Given the description of an element on the screen output the (x, y) to click on. 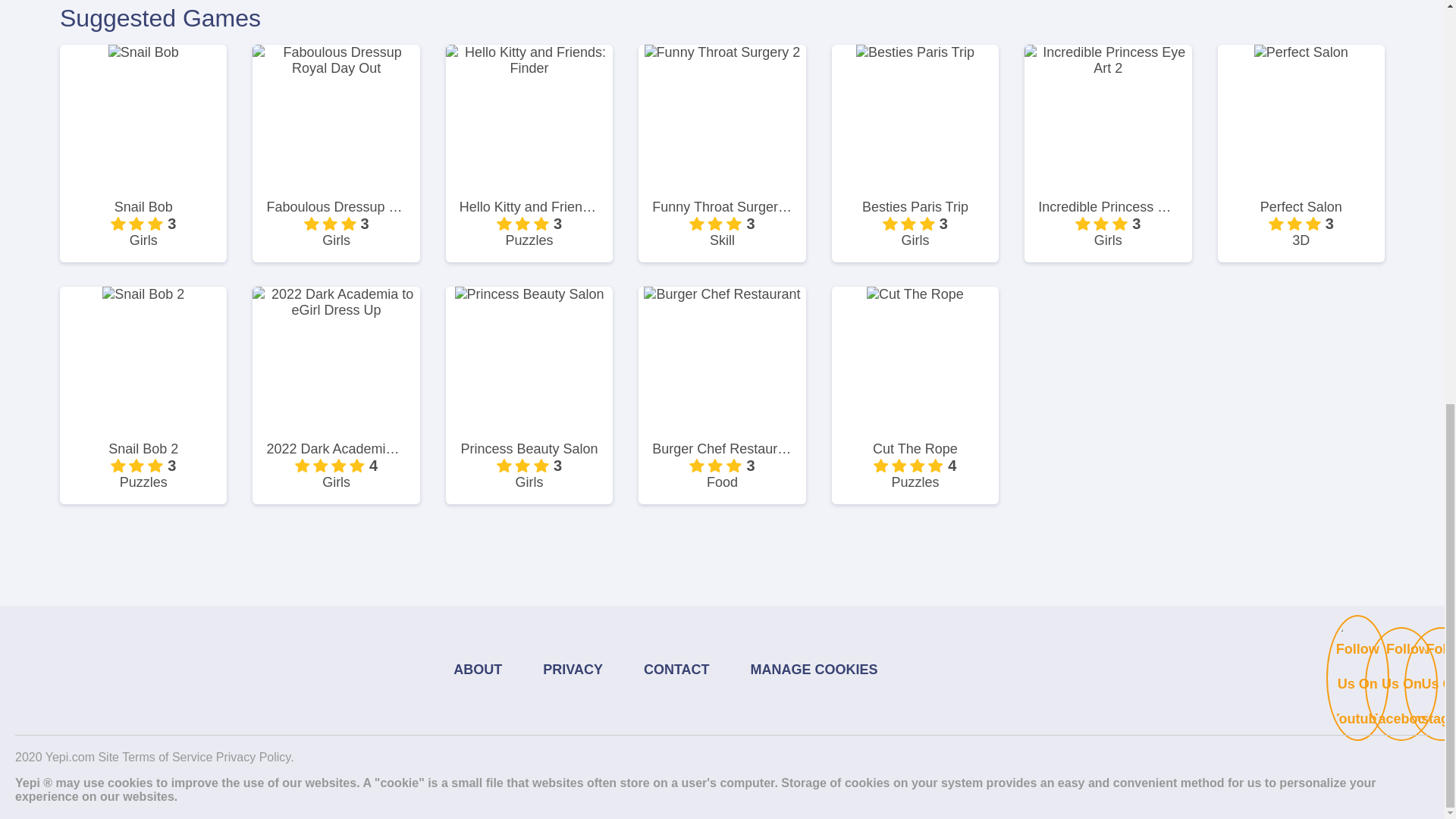
Faboulous Dressup Royal Day Out (336, 207)
Snail Bob (143, 207)
